Given the description of an element on the screen output the (x, y) to click on. 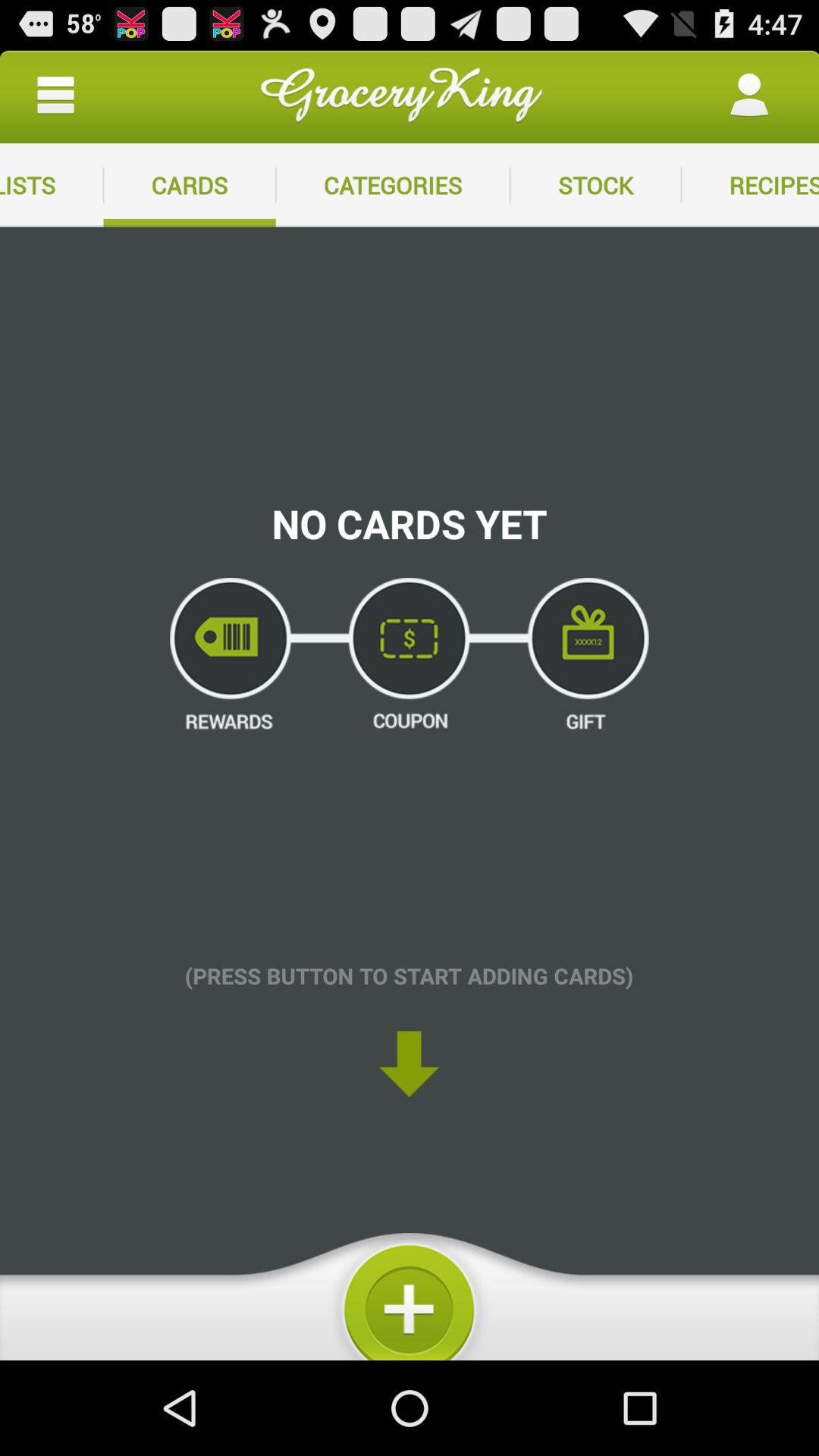
scroll to the categories icon (392, 184)
